Given the description of an element on the screen output the (x, y) to click on. 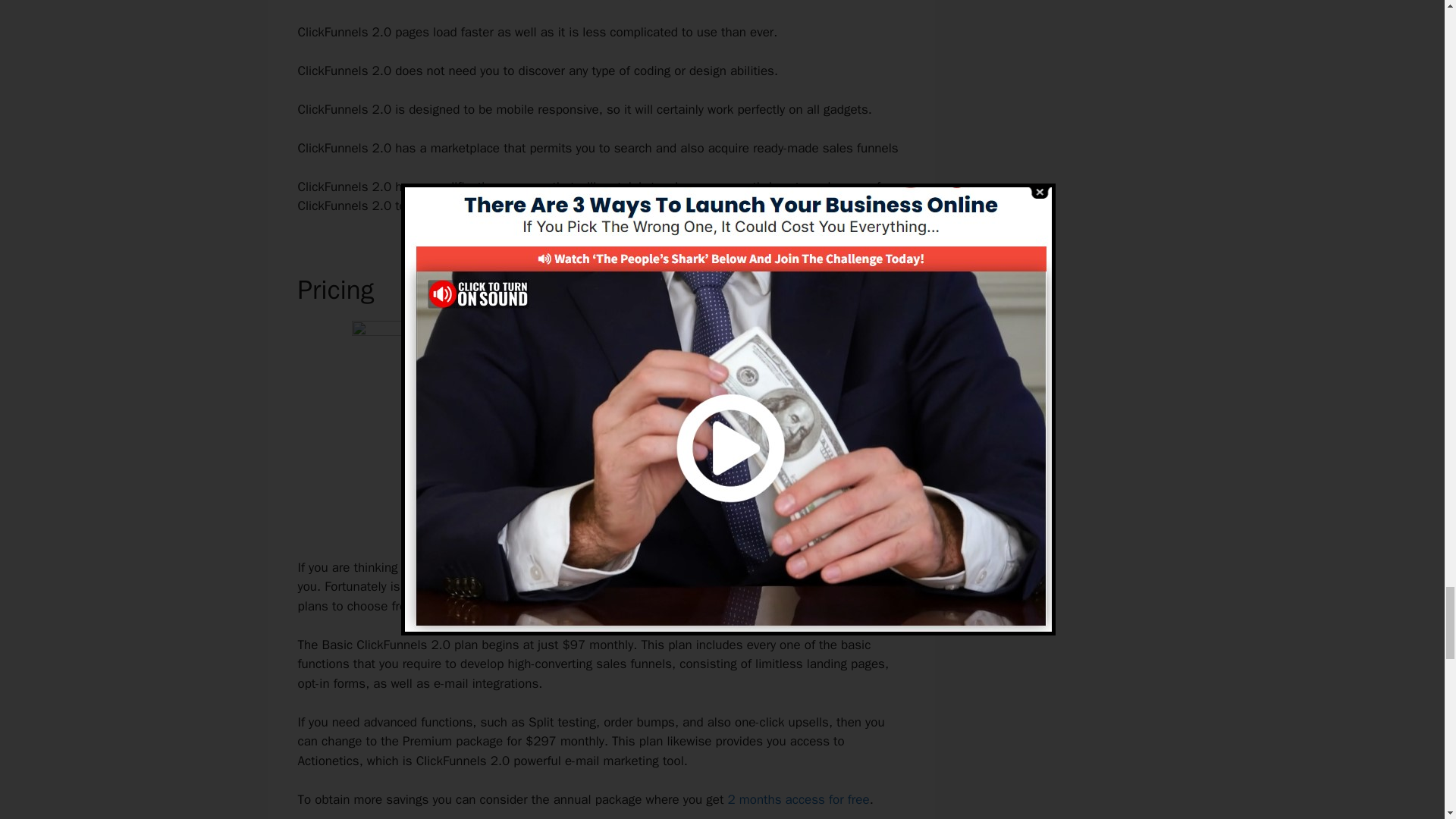
2 months access for free (798, 799)
